Given the description of an element on the screen output the (x, y) to click on. 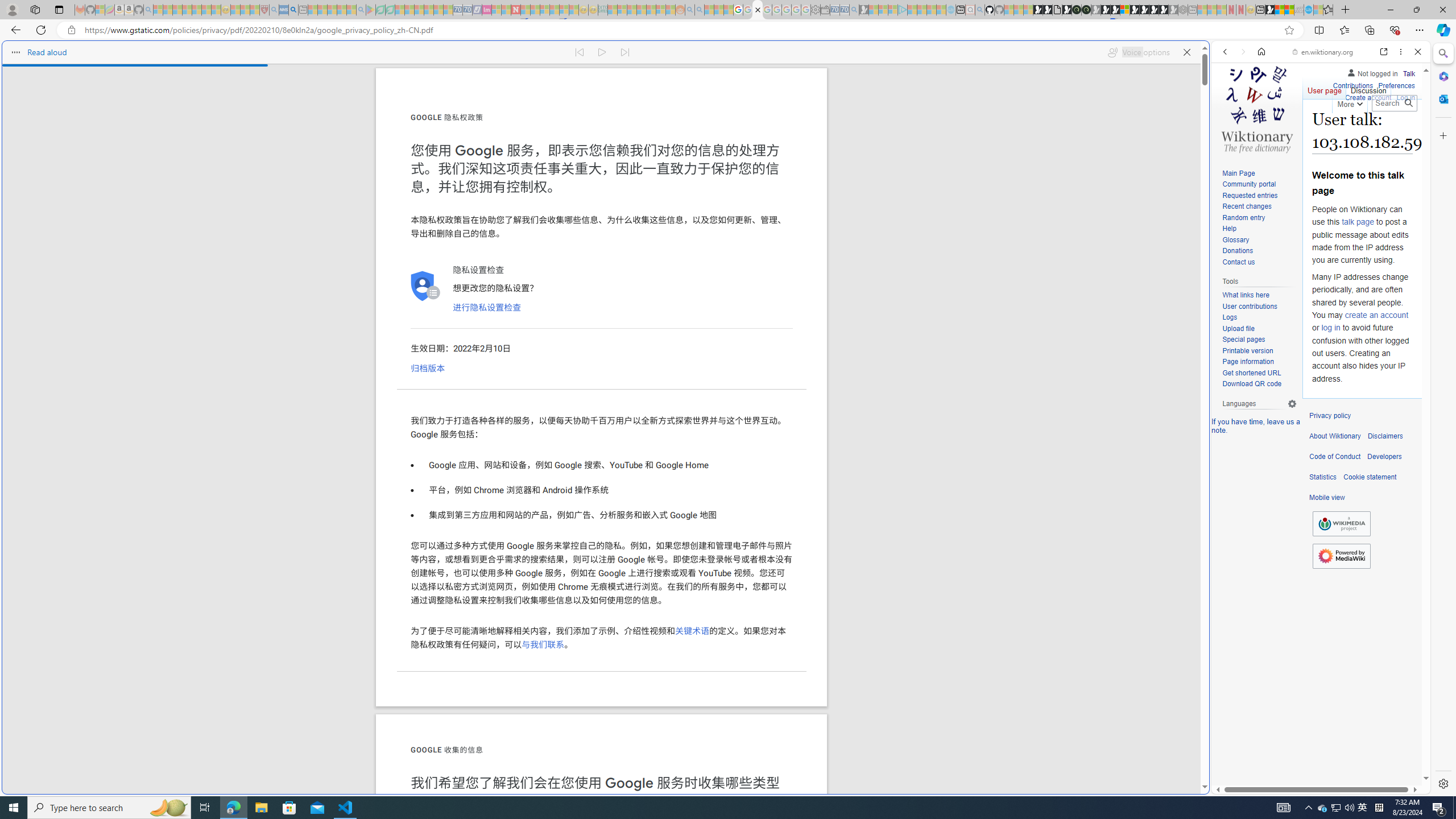
WEB   (1230, 130)
Read previous paragraph (579, 52)
Requested entries (1249, 194)
